Given the description of an element on the screen output the (x, y) to click on. 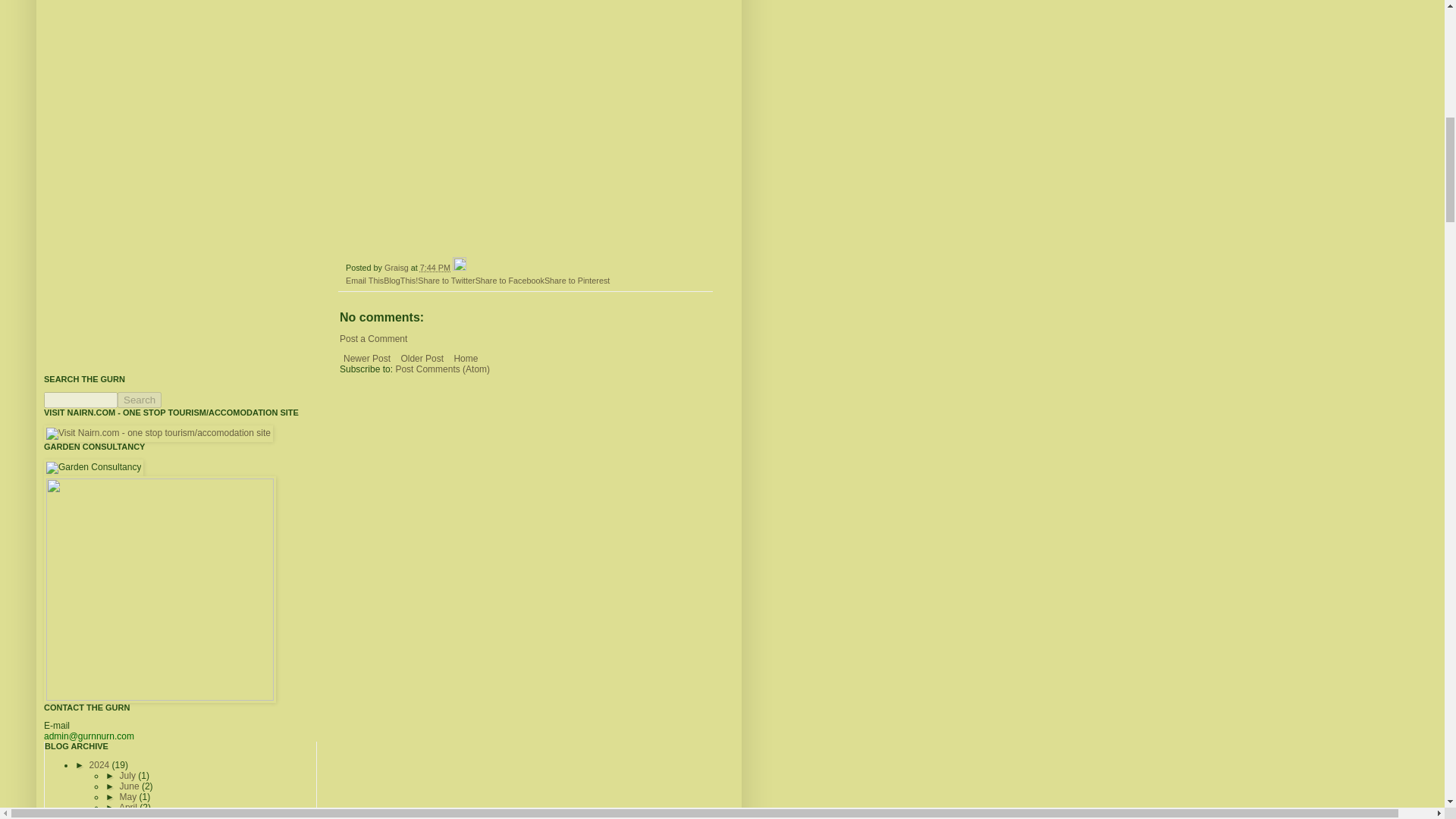
Newer Post (366, 358)
permanent link (434, 266)
Search (139, 399)
2024 (100, 765)
Share to Pinterest (577, 280)
June (130, 786)
Search (139, 399)
search (139, 399)
Share to Facebook (510, 280)
March (133, 816)
Graisg (397, 266)
search (80, 399)
Older Post (421, 358)
BlogThis! (400, 280)
Home (465, 358)
